Given the description of an element on the screen output the (x, y) to click on. 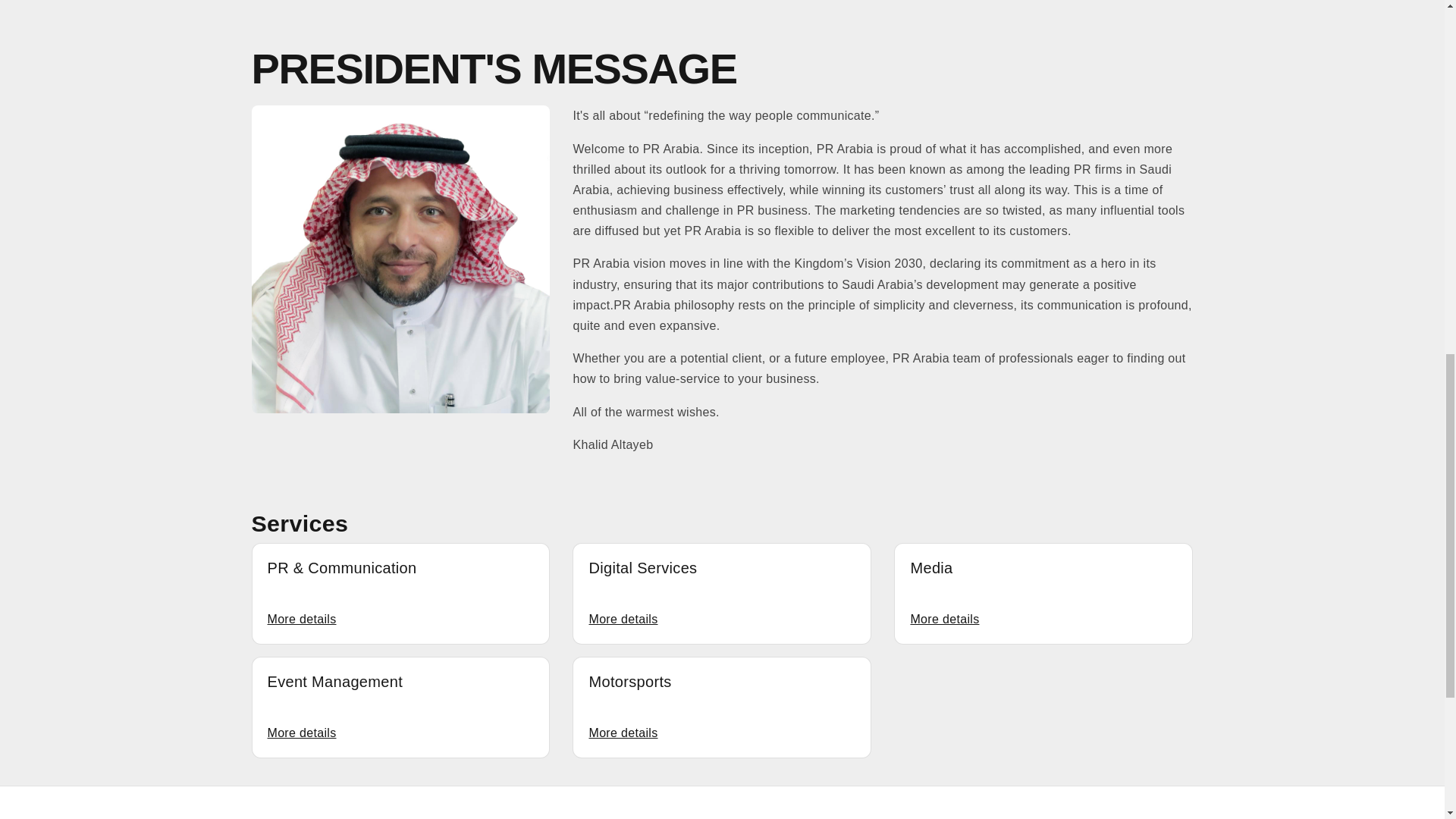
More details (944, 618)
More details (301, 618)
More details (623, 618)
More details (301, 732)
More details (623, 732)
